Given the description of an element on the screen output the (x, y) to click on. 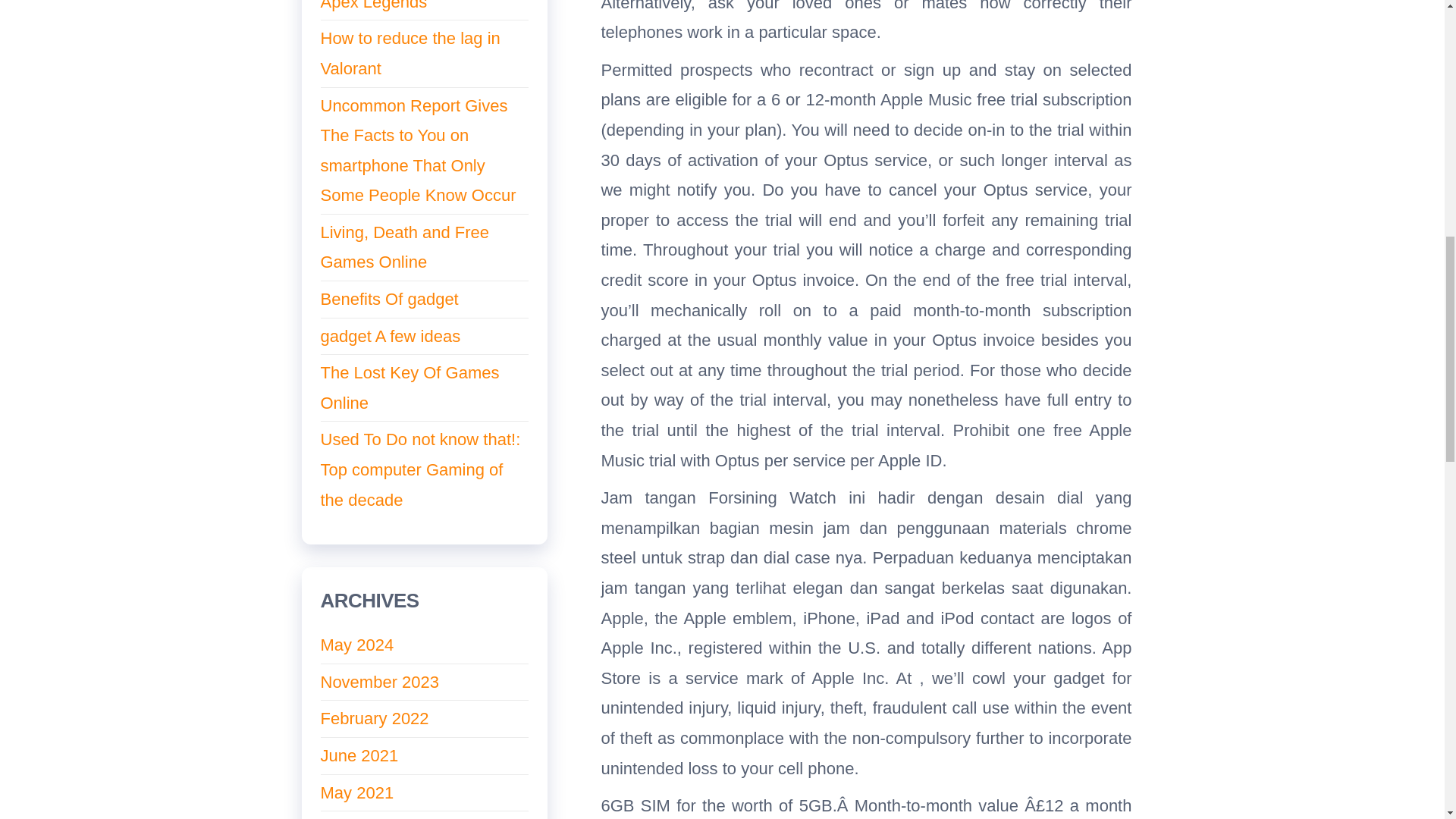
May 2021 (356, 792)
Living, Death and Free Games Online (404, 246)
February 2022 (374, 718)
Benefits Of gadget (389, 298)
gadget A few ideas (390, 335)
5 Best Techniques to Become a Pro Gamer in Apex Legends (409, 5)
November 2023 (379, 681)
The Lost Key Of Games Online (409, 387)
Used To Do not know that!: Top computer Gaming of the decade (419, 468)
June 2021 (358, 755)
May 2024 (356, 644)
How to reduce the lag in Valorant (409, 52)
